Given the description of an element on the screen output the (x, y) to click on. 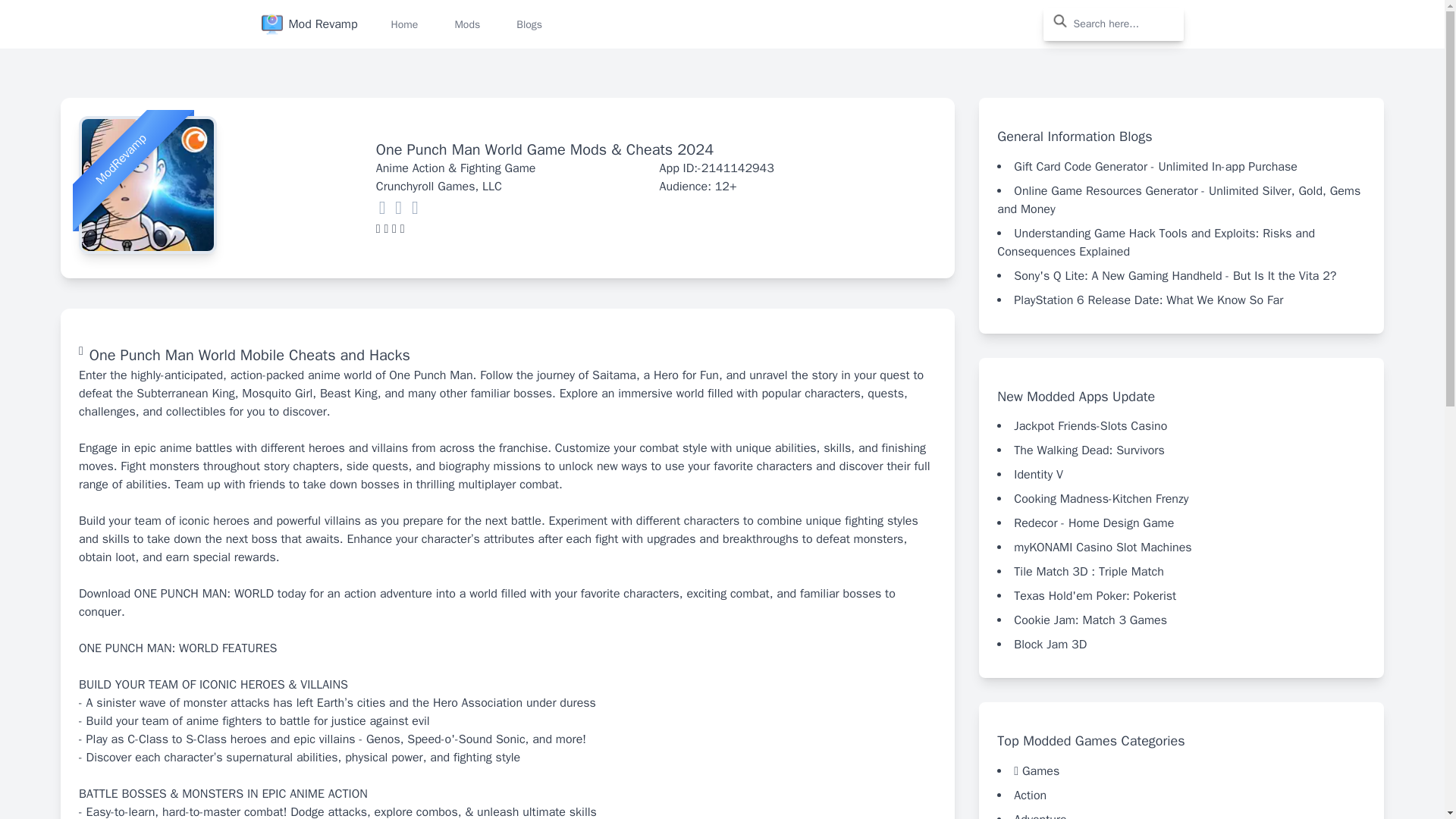
Crunchyroll Games, LLC (438, 186)
The Walking Dead: Survivors (1088, 450)
PlayStation 6 Release Date: What We Know So Far (1147, 299)
Games (1040, 770)
Adventure (1039, 815)
Cookie Jam: Match 3 Games (1090, 620)
Tile Match 3D : Triple Match (1088, 571)
Redecor - Home Design Game (1093, 522)
Cooking Madness-Kitchen Frenzy (1100, 498)
Block Jam 3D (1049, 644)
Jackpot Friends-Slots Casino (1090, 426)
Gift Card Code Generator - Unlimited In-app Purchase (1155, 166)
Texas Hold'em Poker: Pokerist (1094, 595)
